Given the description of an element on the screen output the (x, y) to click on. 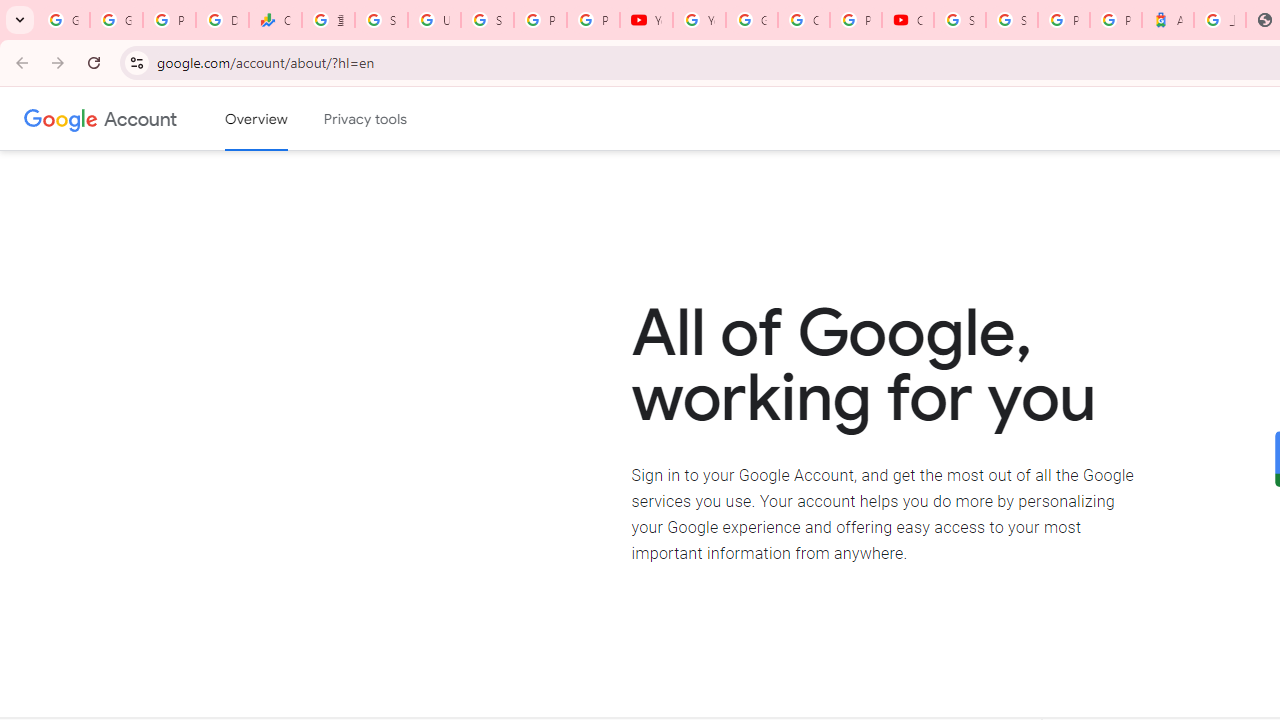
Create your Google Account (803, 20)
Google Account Help (751, 20)
Atour Hotel - Google hotels (1167, 20)
Google Account overview (256, 119)
Sign in - Google Accounts (1011, 20)
Sign in - Google Accounts (487, 20)
YouTube (646, 20)
Google Workspace Admin Community (63, 20)
